Given the description of an element on the screen output the (x, y) to click on. 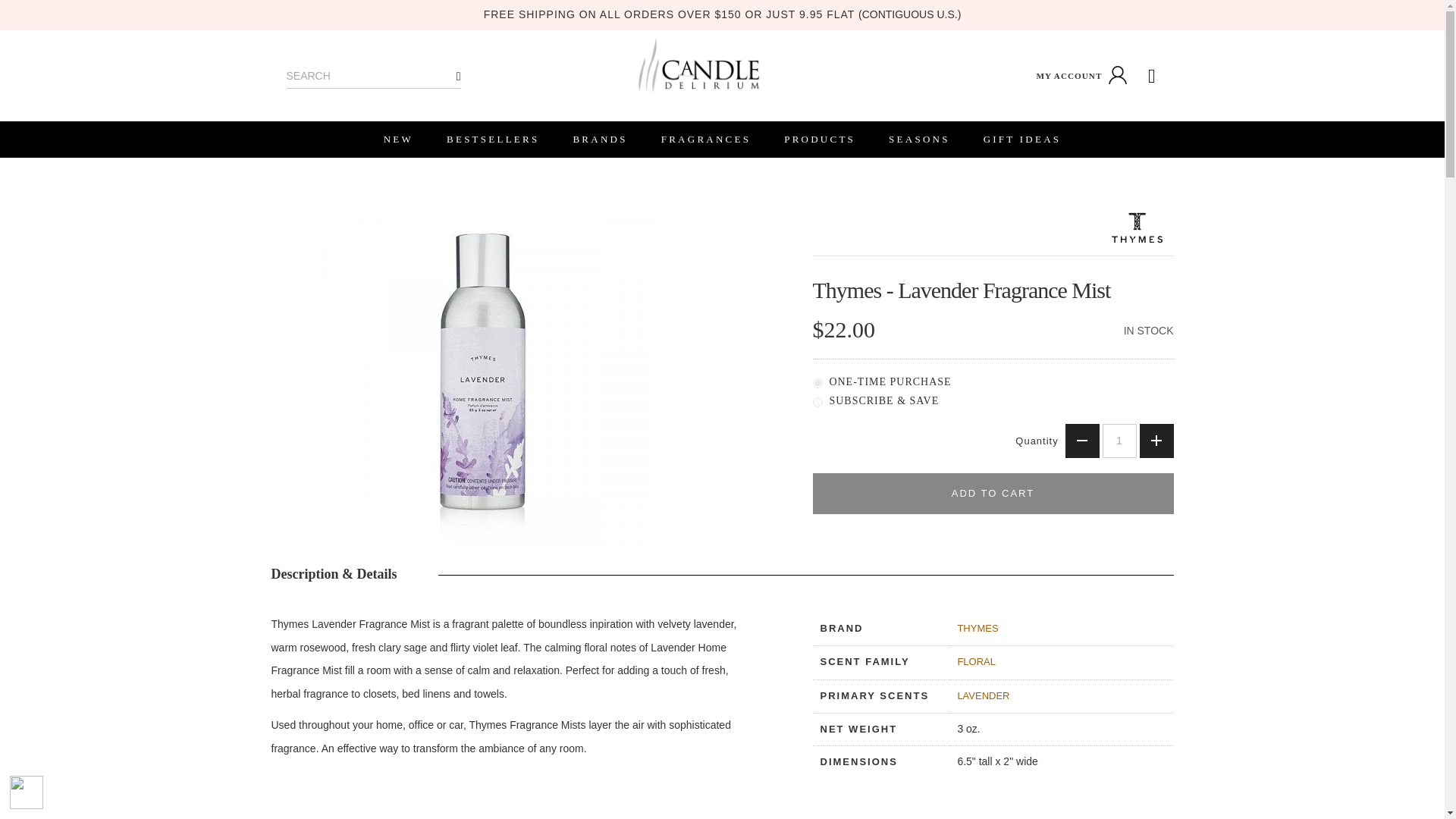
MY CART (1152, 76)
NEW (397, 139)
0 (817, 383)
MY ACCOUNT (1083, 75)
BESTSELLERS (492, 139)
1 (1119, 440)
Search (459, 76)
Search (459, 76)
CandleDelirium Candles (697, 65)
